Given the description of an element on the screen output the (x, y) to click on. 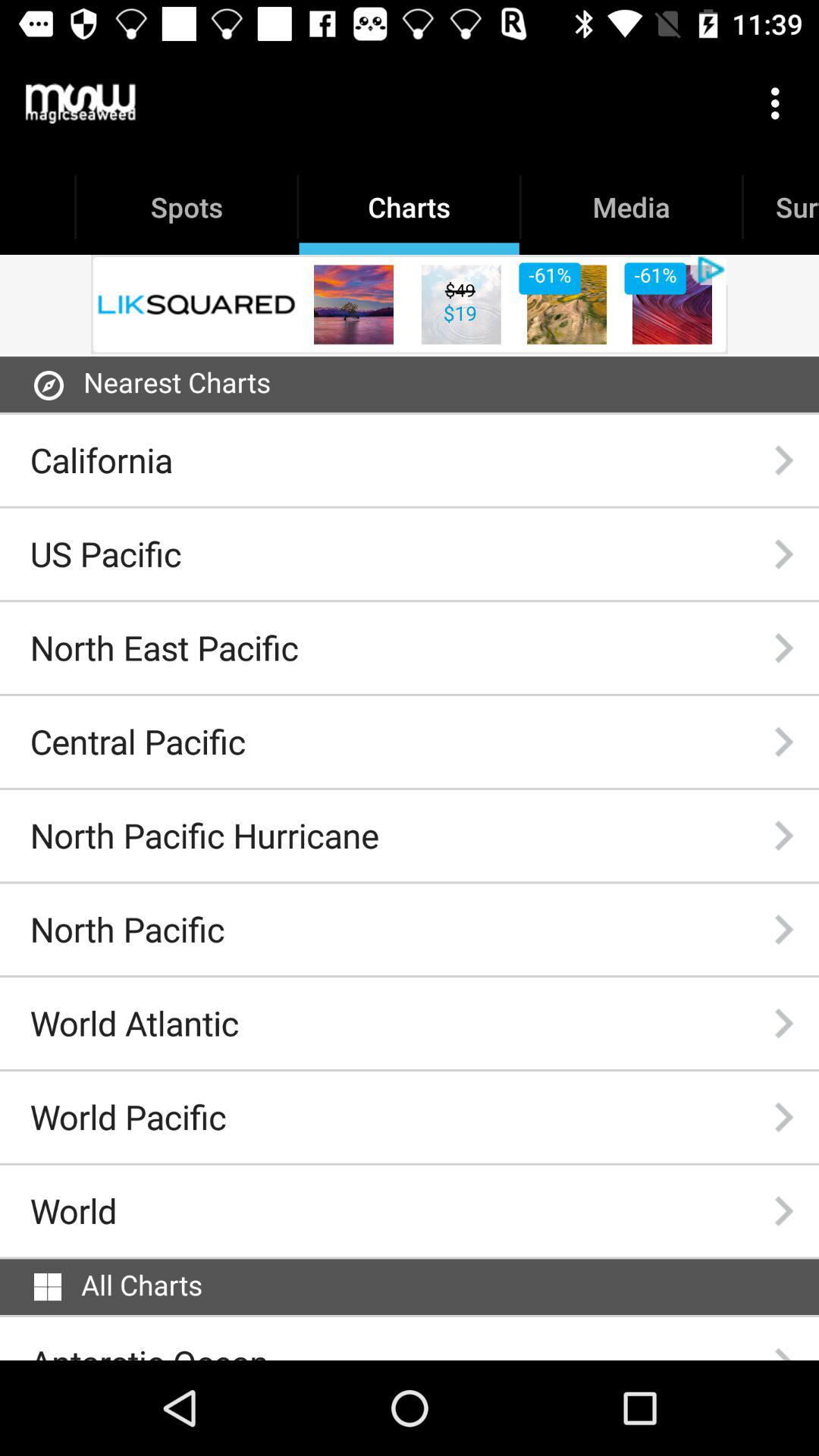
scroll until central pacific icon (137, 741)
